Given the description of an element on the screen output the (x, y) to click on. 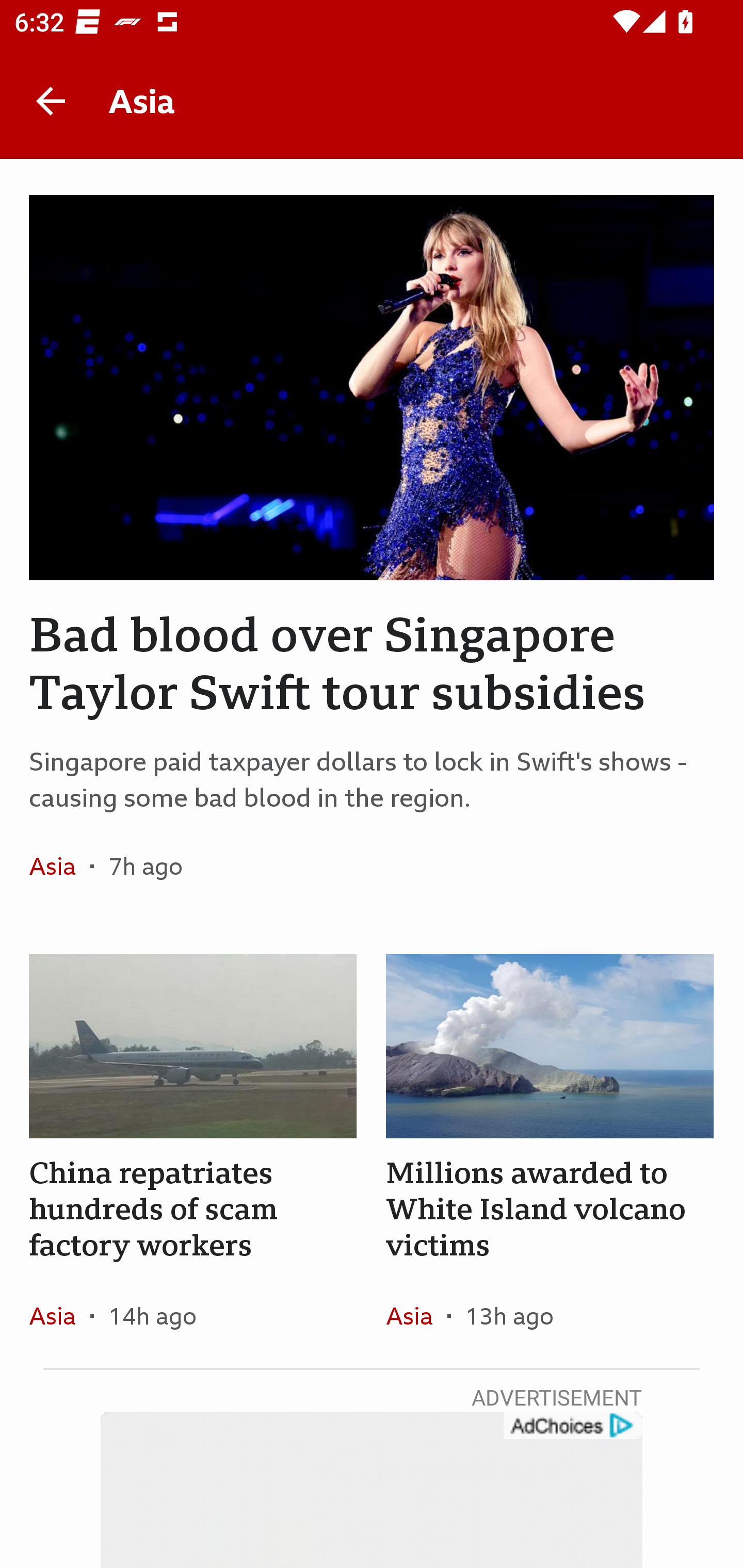
Back (50, 101)
Asia In the section Asia (59, 865)
Asia In the section Asia (59, 1315)
Asia In the section Asia (416, 1315)
Video Player get?name=admarker-full-tl   (371, 1489)
get?name=admarker-full-tl (571, 1425)
